Given the description of an element on the screen output the (x, y) to click on. 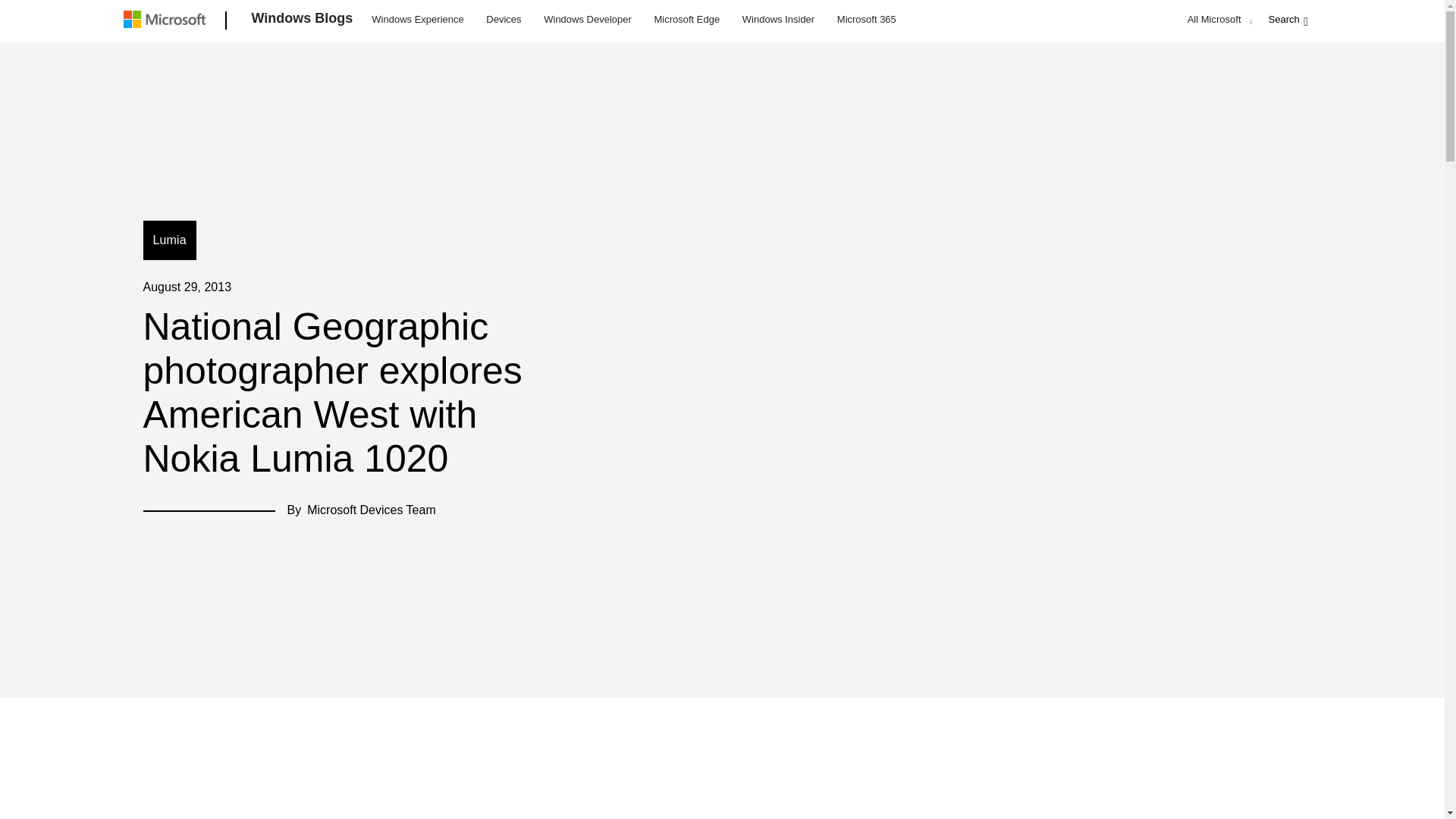
All Microsoft (1217, 18)
Windows Insider (778, 18)
Windows Experience (417, 18)
Microsoft 365 (865, 18)
Microsoft (167, 20)
Microsoft Edge (686, 18)
Windows Blogs (302, 20)
Devices (503, 18)
Windows Developer (588, 18)
